Given the description of an element on the screen output the (x, y) to click on. 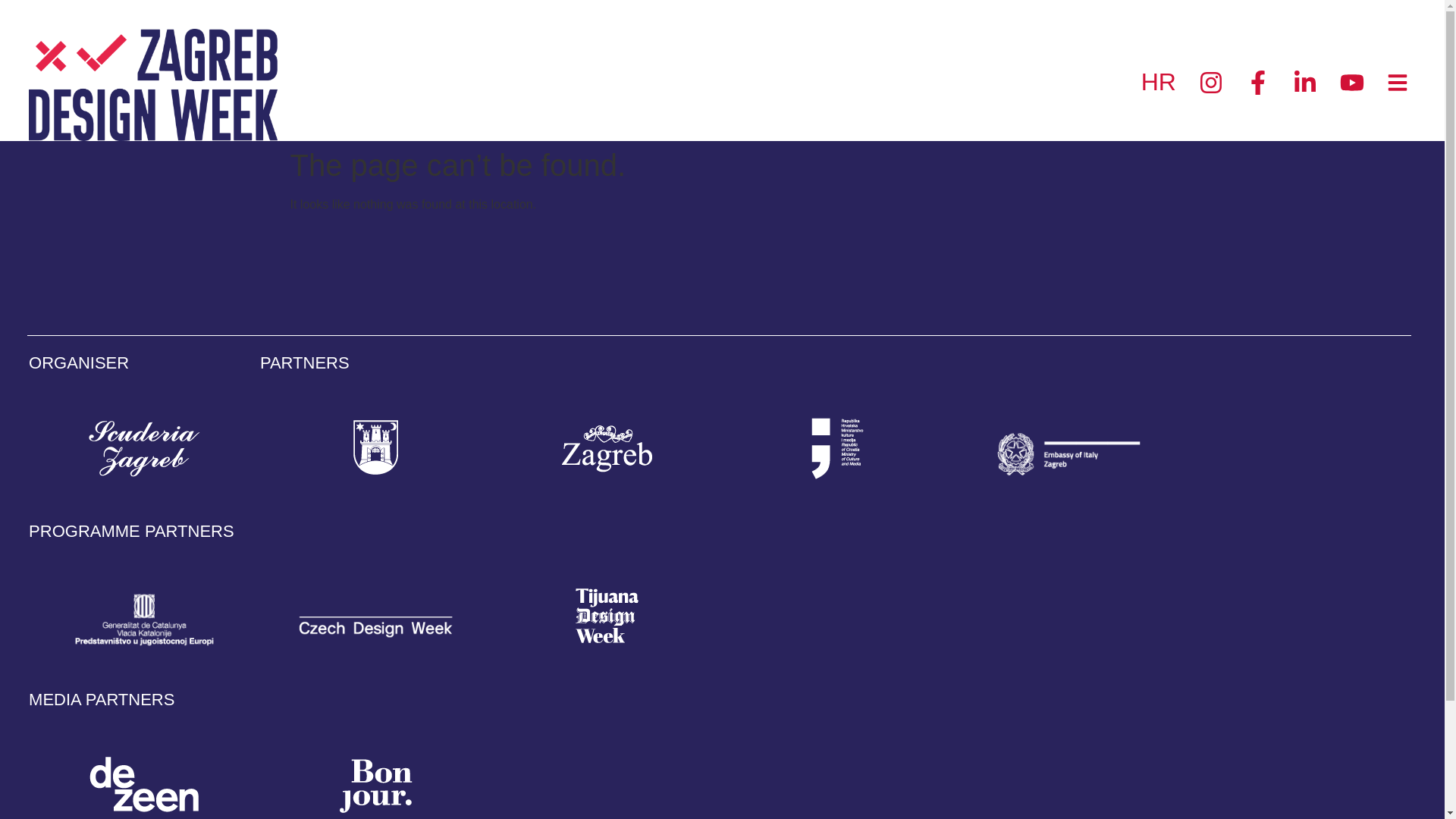
HR (1155, 81)
